Given the description of an element on the screen output the (x, y) to click on. 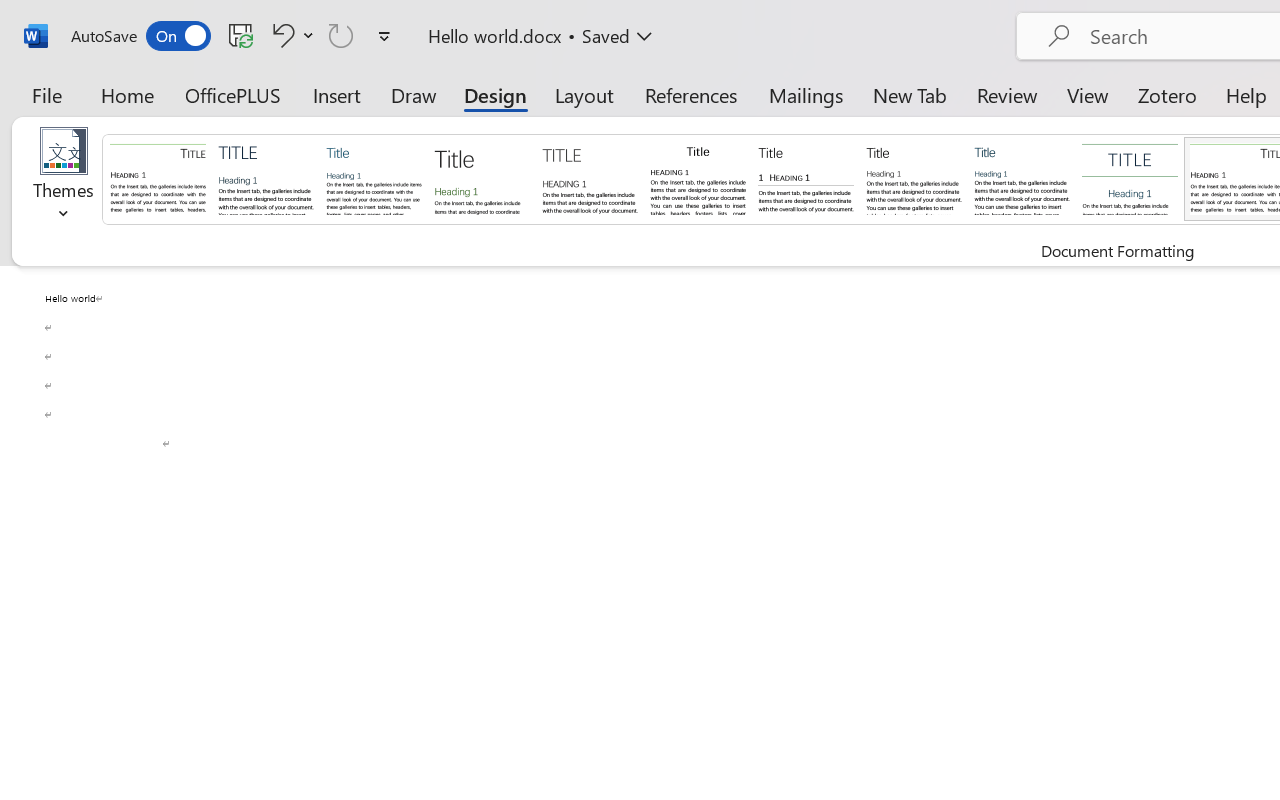
Basic (Elegant) (266, 178)
Themes (63, 179)
View (1087, 94)
References (690, 94)
Mailings (806, 94)
Draw (413, 94)
Review (1007, 94)
Centered (1130, 178)
Quick Access Toolbar (233, 36)
Design (495, 94)
Black & White (Capitalized) (589, 178)
New Tab (909, 94)
Document (157, 178)
